Given the description of an element on the screen output the (x, y) to click on. 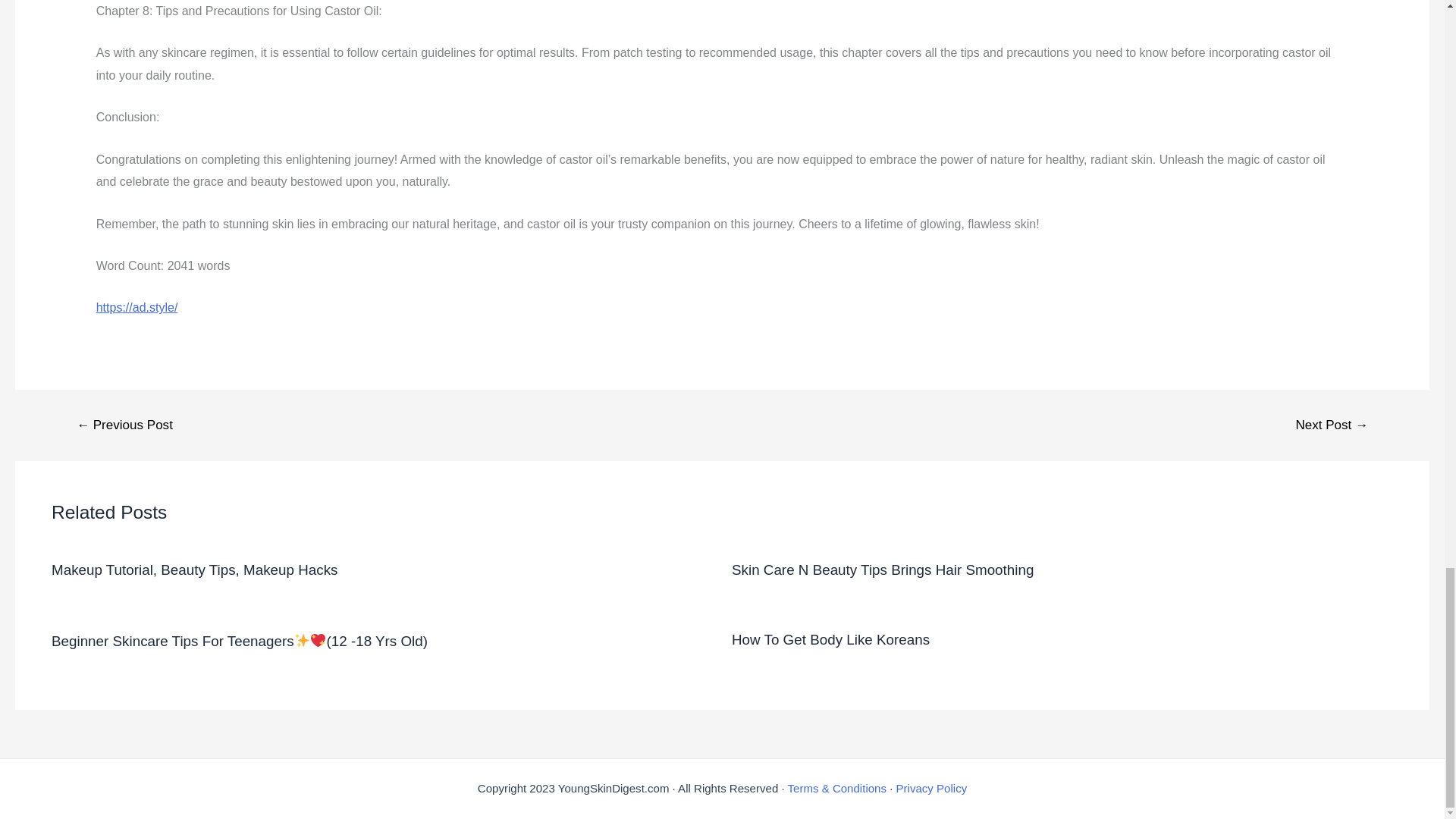
Privacy Policy (932, 788)
Makeup Tutorial, Beauty Tips, Makeup Hacks (193, 569)
Skin Care N Beauty Tips Brings Hair Smoothing (882, 569)
How To Get Body Like Koreans (831, 639)
